Given the description of an element on the screen output the (x, y) to click on. 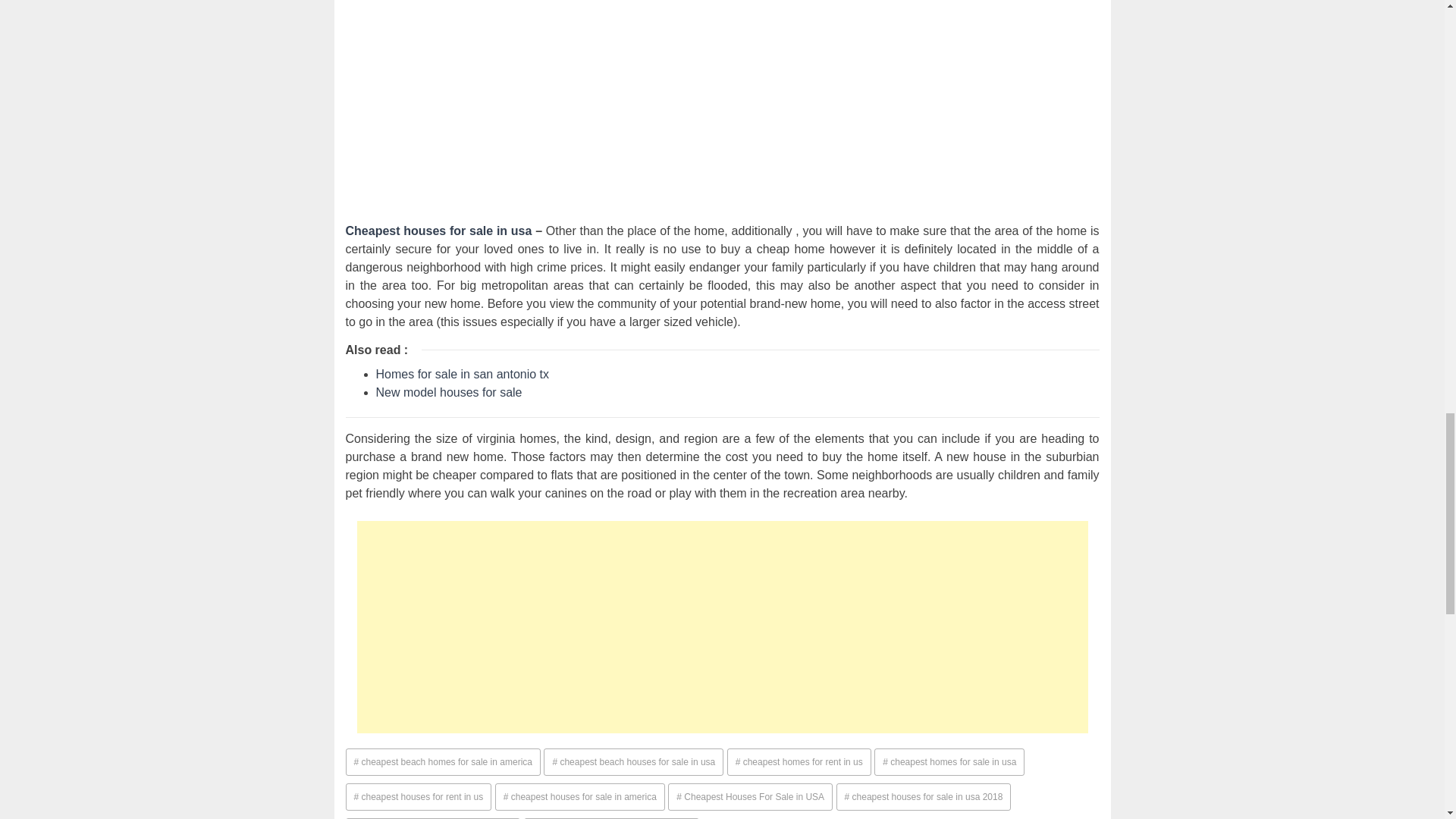
New model houses for sale (448, 391)
Homes for sale in san antonio tx (462, 373)
Cheapest houses for sale in usa (439, 230)
